Given the description of an element on the screen output the (x, y) to click on. 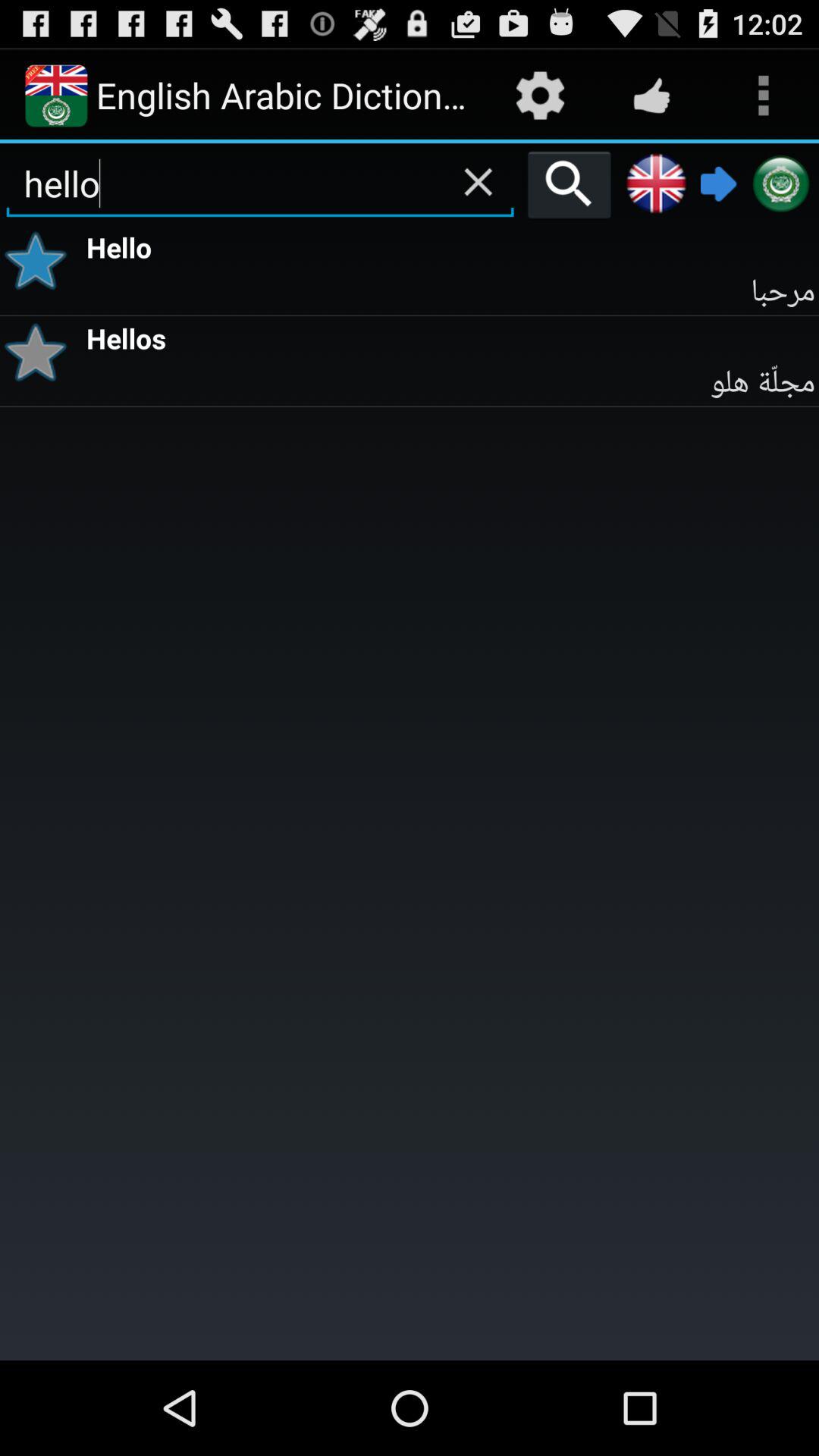
search dictionary (569, 184)
